Given the description of an element on the screen output the (x, y) to click on. 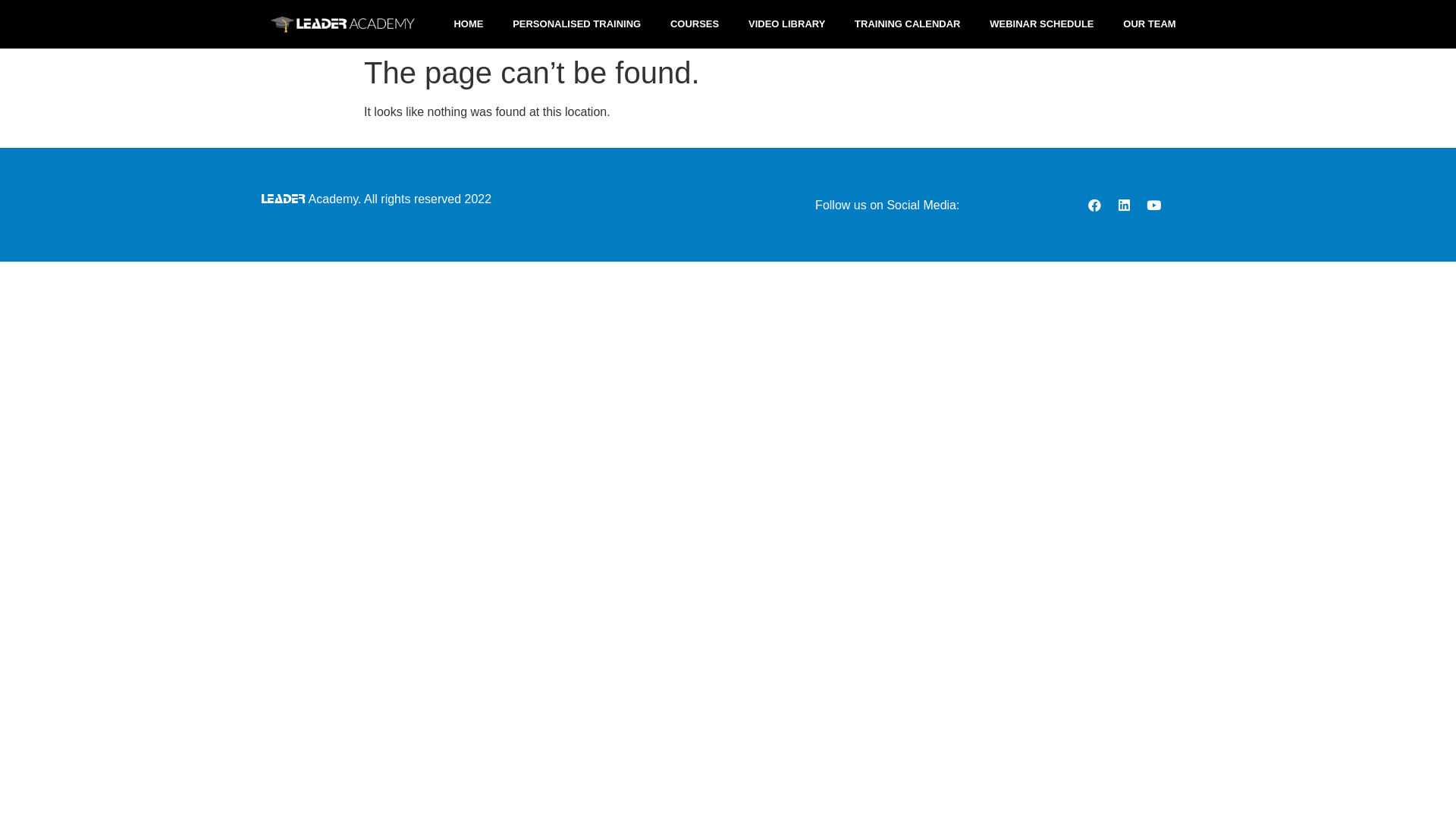
HOME Element type: text (468, 23)
OUR TEAM Element type: text (1149, 23)
WEBINAR SCHEDULE Element type: text (1041, 23)
PERSONALISED TRAINING Element type: text (576, 23)
COURSES Element type: text (694, 23)
TRAINING CALENDAR Element type: text (907, 23)
VIDEO LIBRARY Element type: text (787, 23)
